Given the description of an element on the screen output the (x, y) to click on. 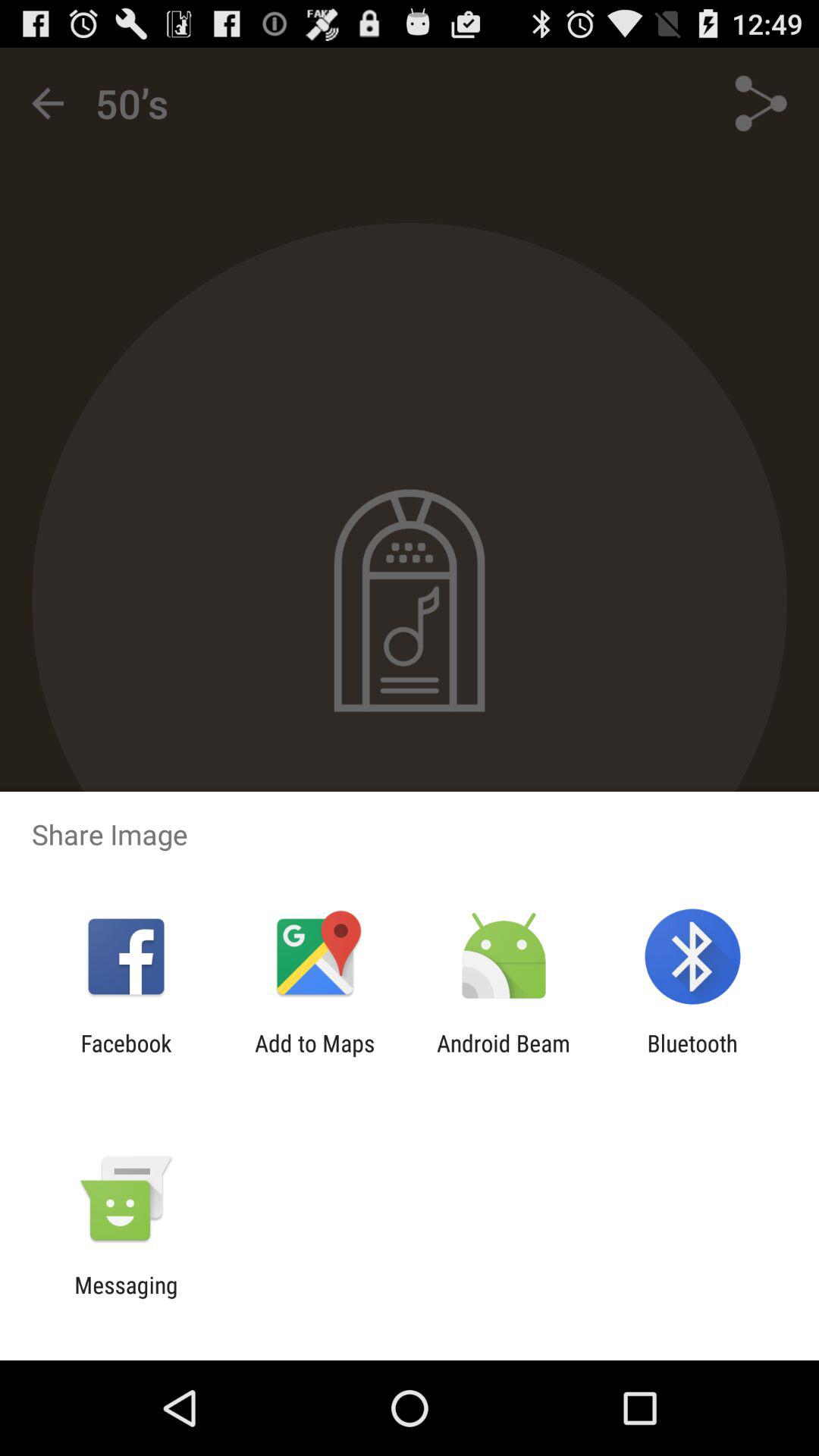
choose the item to the right of add to maps item (503, 1056)
